Given the description of an element on the screen output the (x, y) to click on. 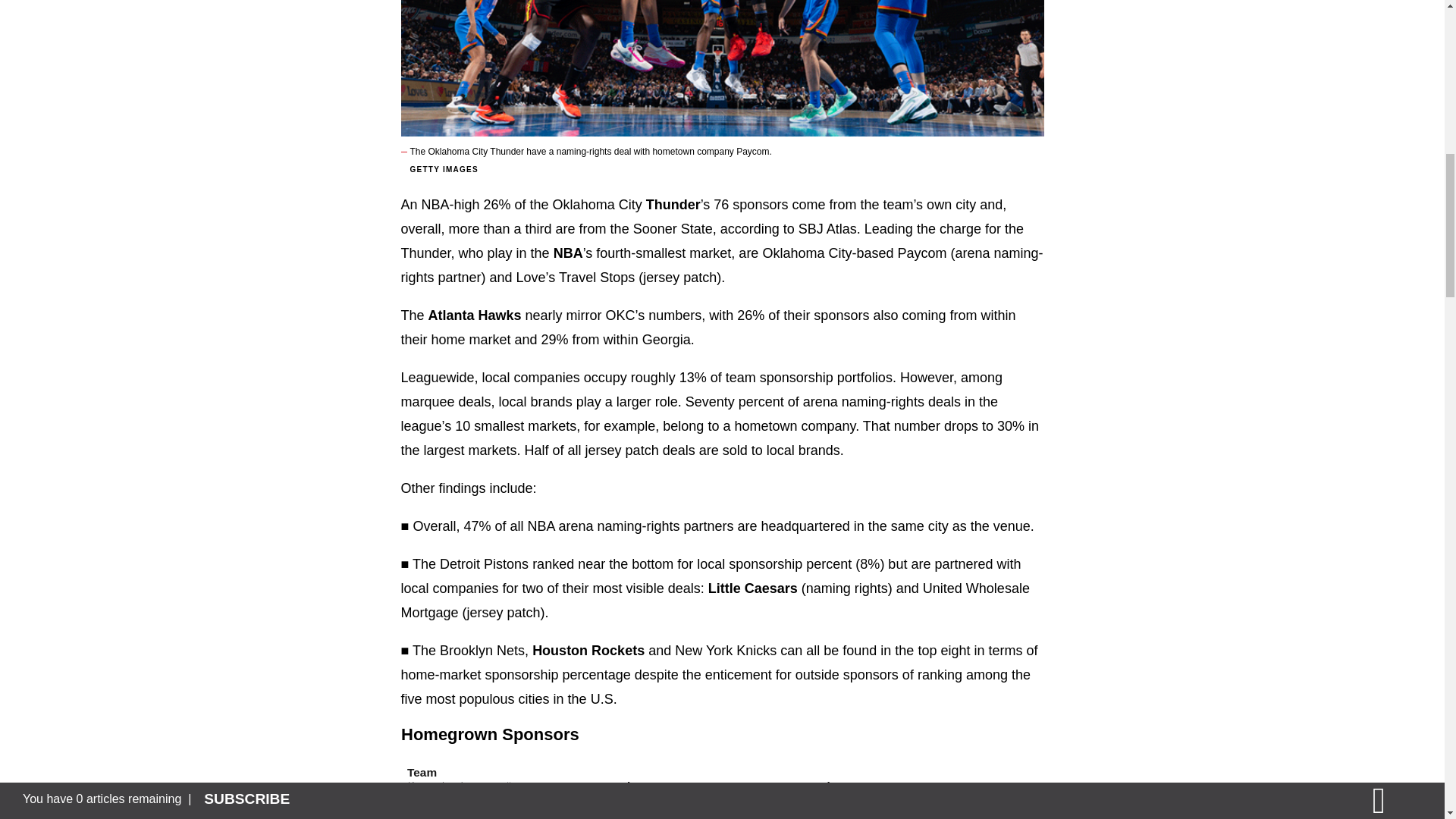
Homegrown Sponsors (721, 771)
